Given the description of an element on the screen output the (x, y) to click on. 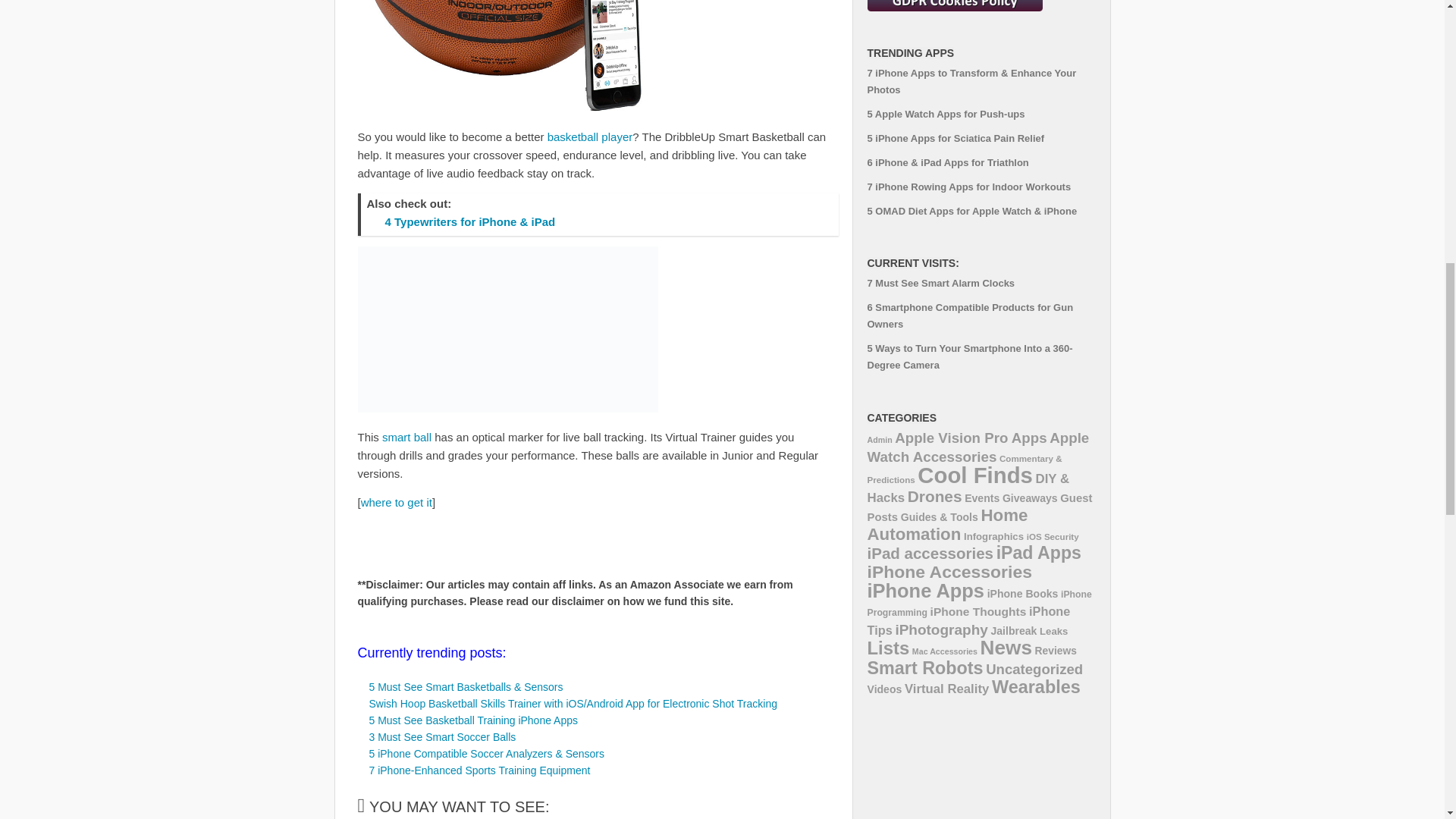
3 Must See Smart Soccer Balls (441, 736)
5 Must See Basketball Training iPhone Apps (473, 720)
